Given the description of an element on the screen output the (x, y) to click on. 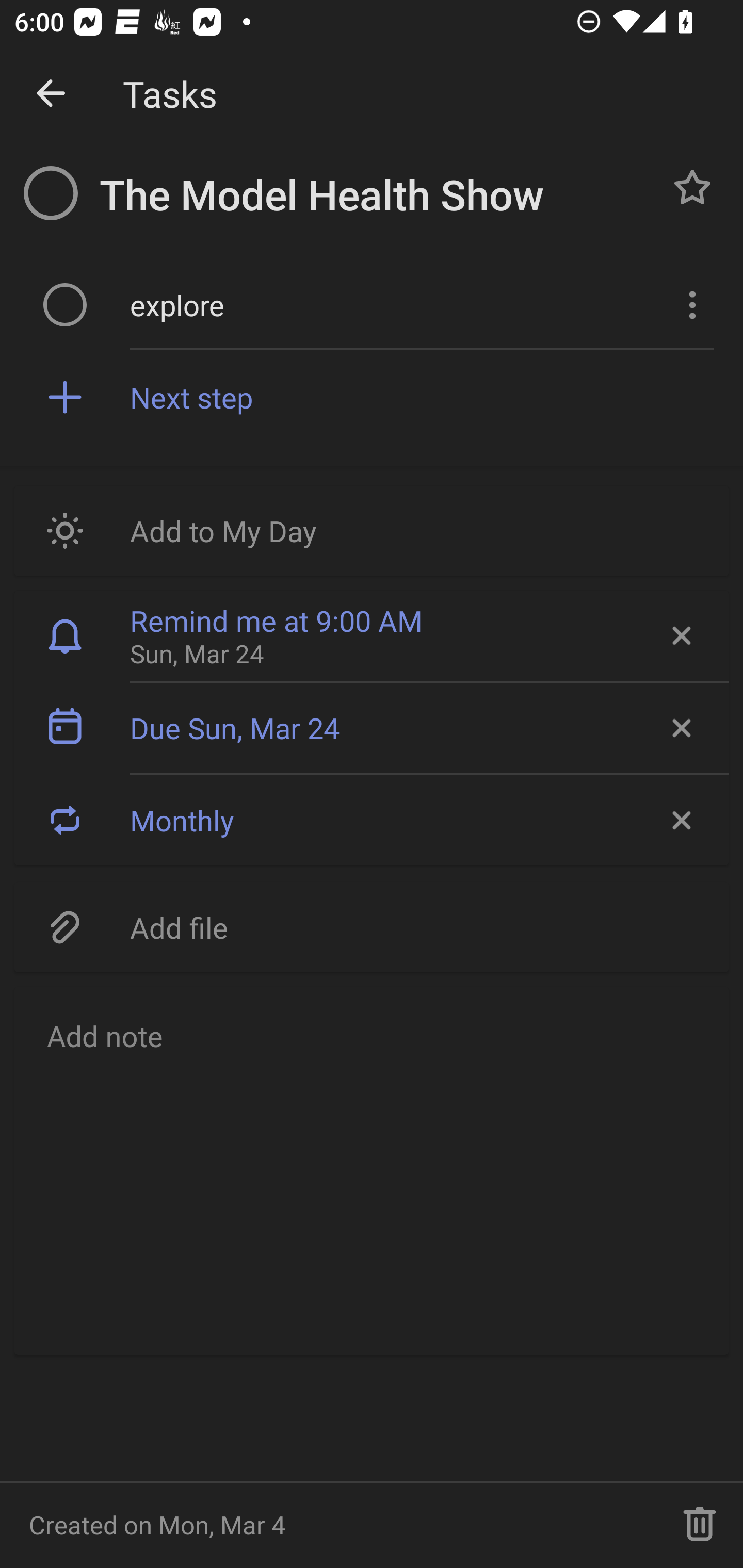
Dismiss detail view (50, 93)
Incomplete task The Model Health Show, Button (50, 192)
The Model Health Show (374, 195)
Normal task The Model Health Show, Button (692, 187)
explore (393, 304)
More Options (690, 304)
Uncompleted, explore, step, Button (64, 304)
Next step (422, 396)
Add to My Day (371, 530)
Remind me at 9:00 AM Sun, Mar 24 Remove reminder (371, 635)
Remove reminder (679, 635)
Due Sun, Mar 24 Due Sun, Mar 24 Remove due date (371, 728)
Remove due date (679, 728)
Remove recurrence (679, 819)
Add file (371, 926)
Add note, Button Email Renderer Add note (371, 1170)
Delete task (699, 1524)
